Given the description of an element on the screen output the (x, y) to click on. 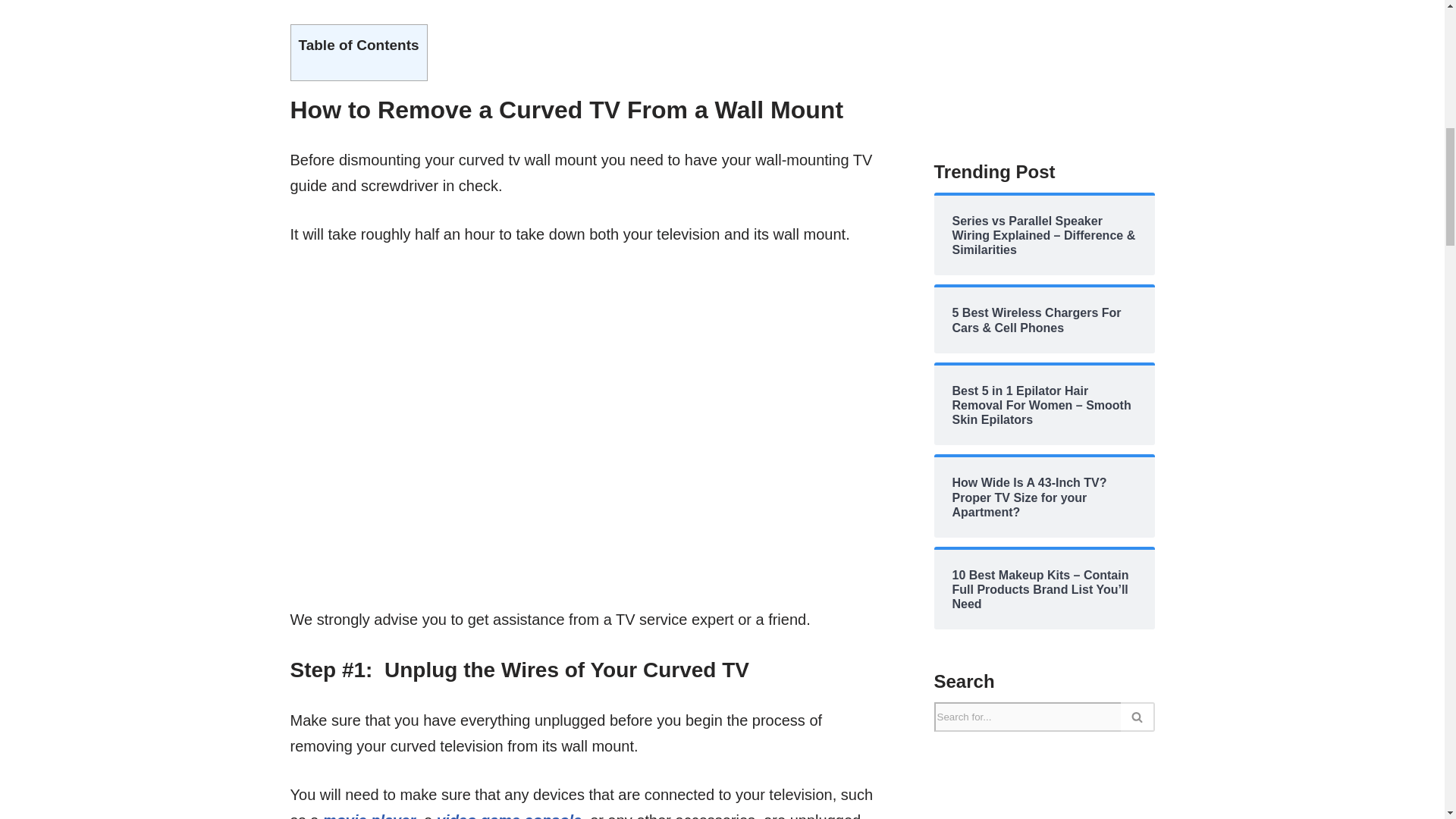
video game console (508, 815)
movie player (368, 815)
